Given the description of an element on the screen output the (x, y) to click on. 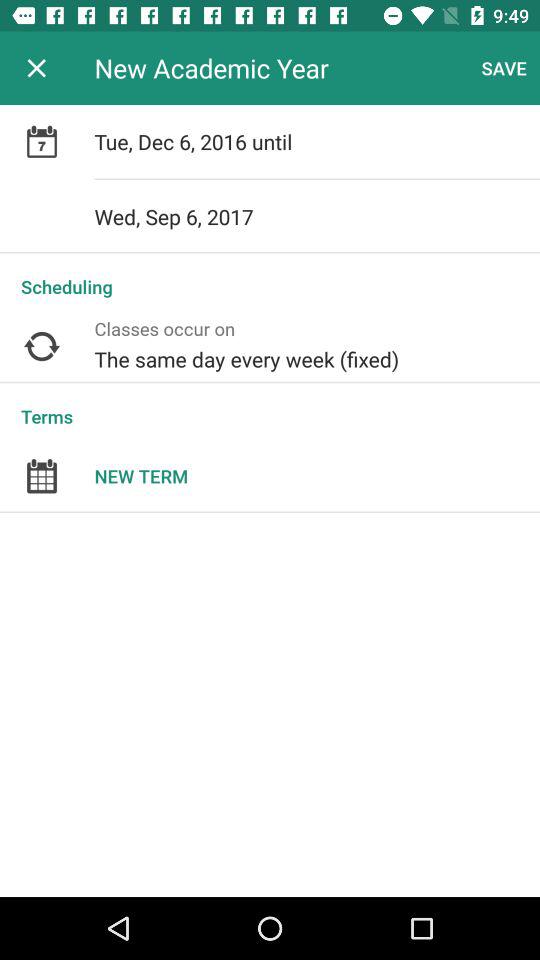
launch the item above the scheduling icon (317, 216)
